Given the description of an element on the screen output the (x, y) to click on. 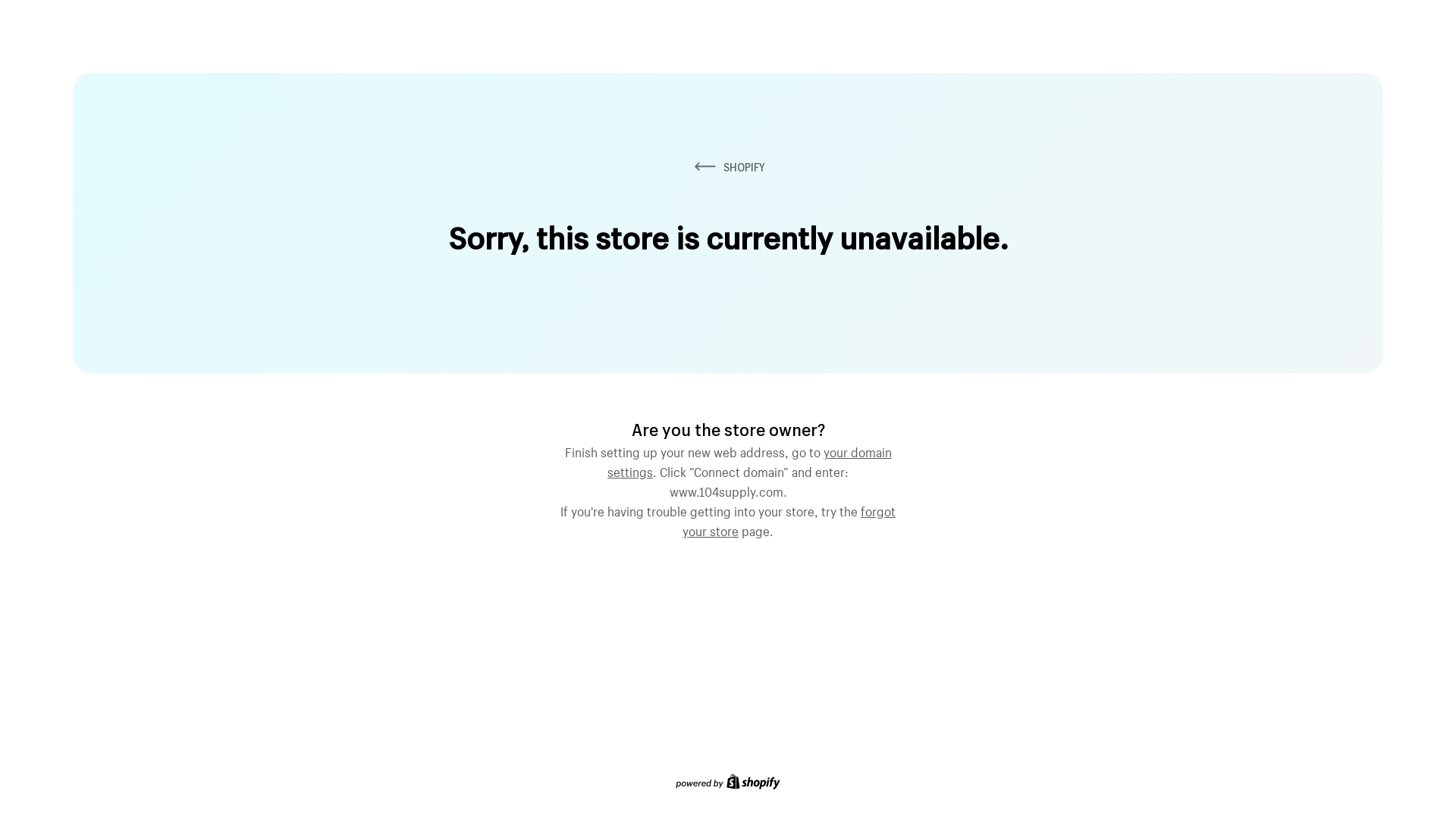
your domain settings Element type: text (749, 460)
forgot your store Element type: text (788, 519)
SHOPIFY Element type: text (727, 167)
